Given the description of an element on the screen output the (x, y) to click on. 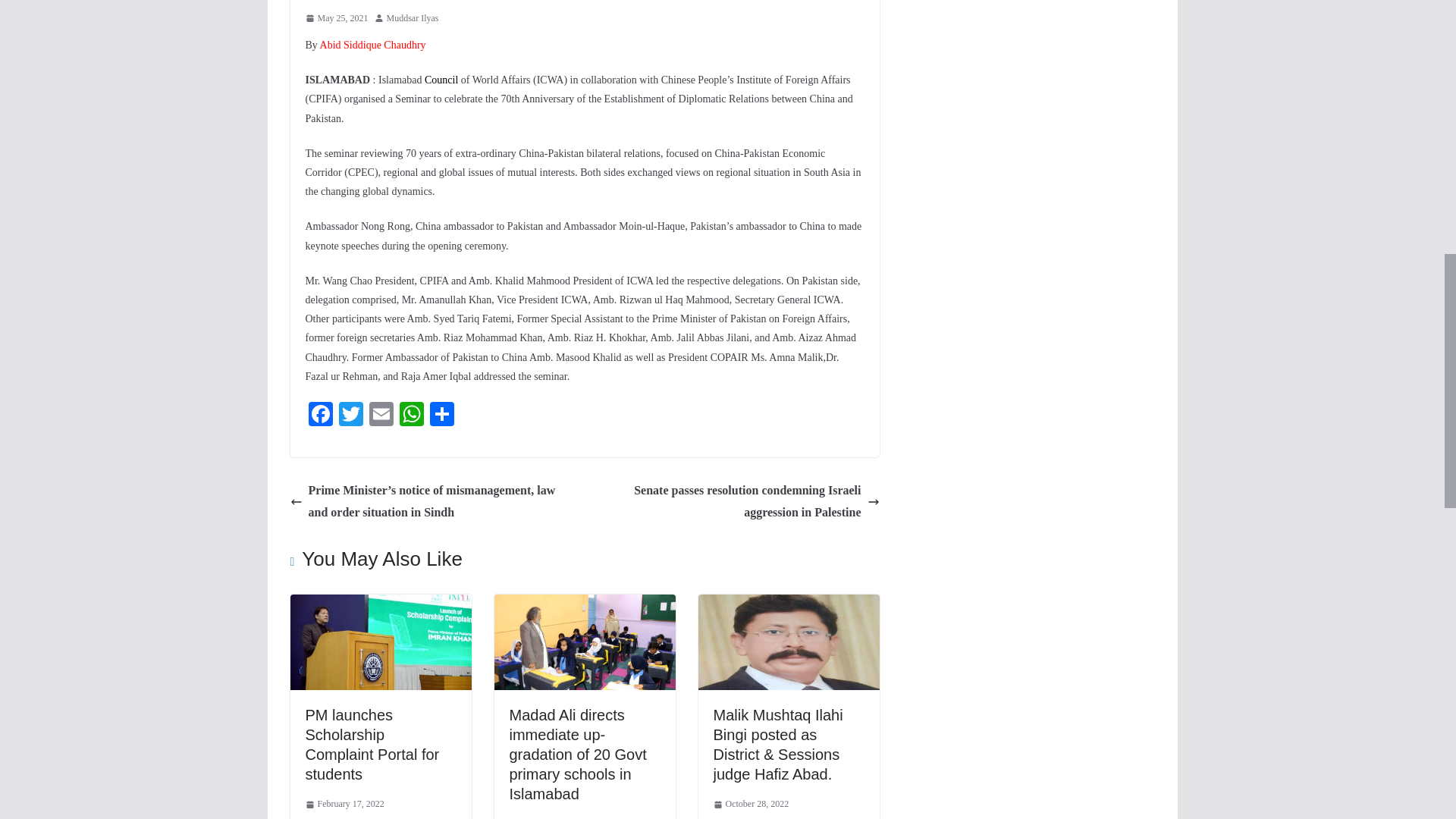
Twitter (349, 415)
PM launches Scholarship Complaint Portal for students (371, 744)
6:50 pm (336, 18)
Email (380, 415)
PM launches Scholarship Complaint Portal for students (371, 744)
PM launches Scholarship Complaint Portal for students (379, 604)
WhatsApp (411, 415)
Email (380, 415)
Twitter (349, 415)
Muddsar Ilyas (413, 18)
Muddsar Ilyas (413, 18)
May 25, 2021 (336, 18)
Facebook (319, 415)
February 17, 2022 (344, 804)
